Given the description of an element on the screen output the (x, y) to click on. 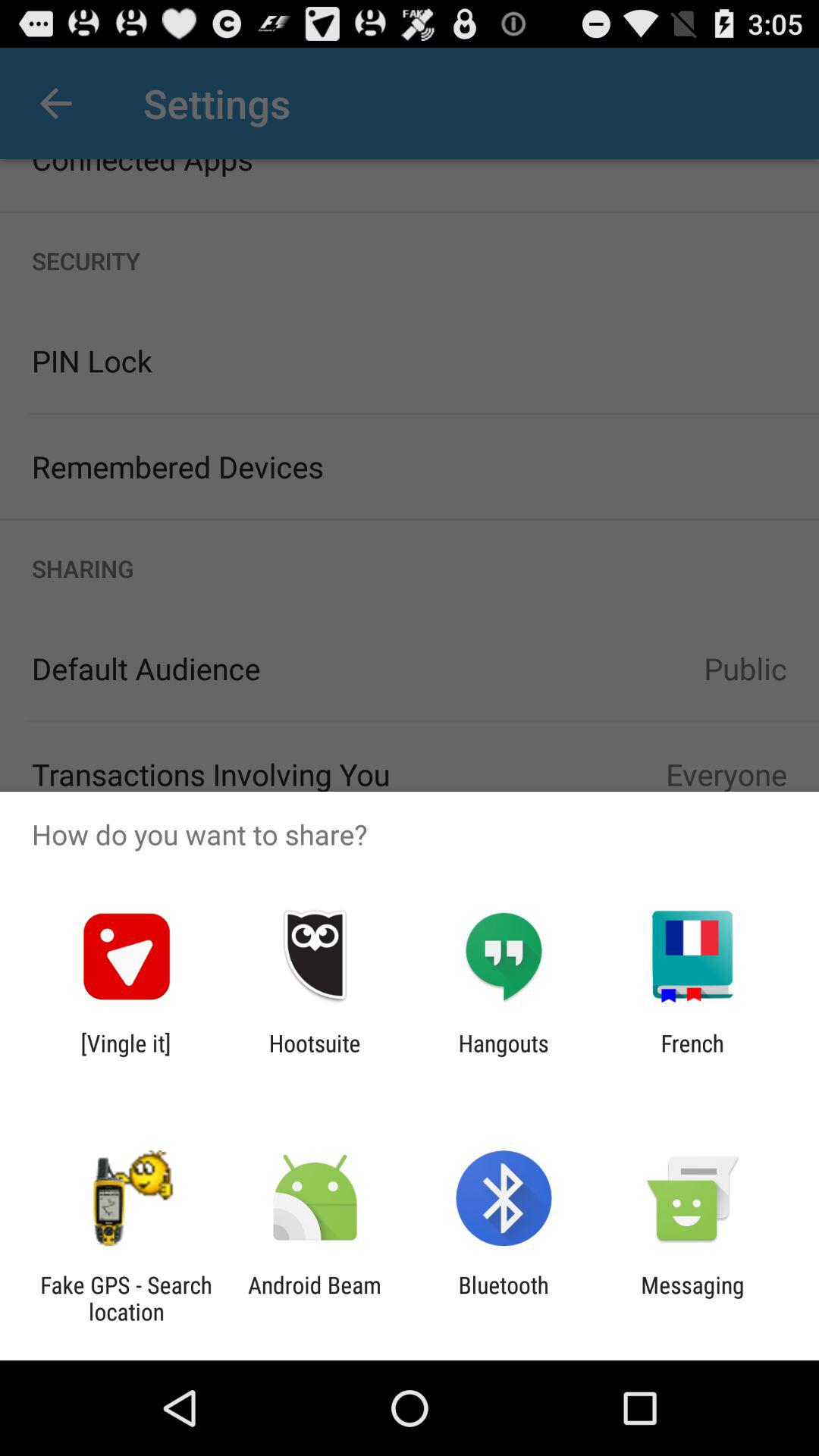
select the item to the right of [vingle it] app (314, 1056)
